Given the description of an element on the screen output the (x, y) to click on. 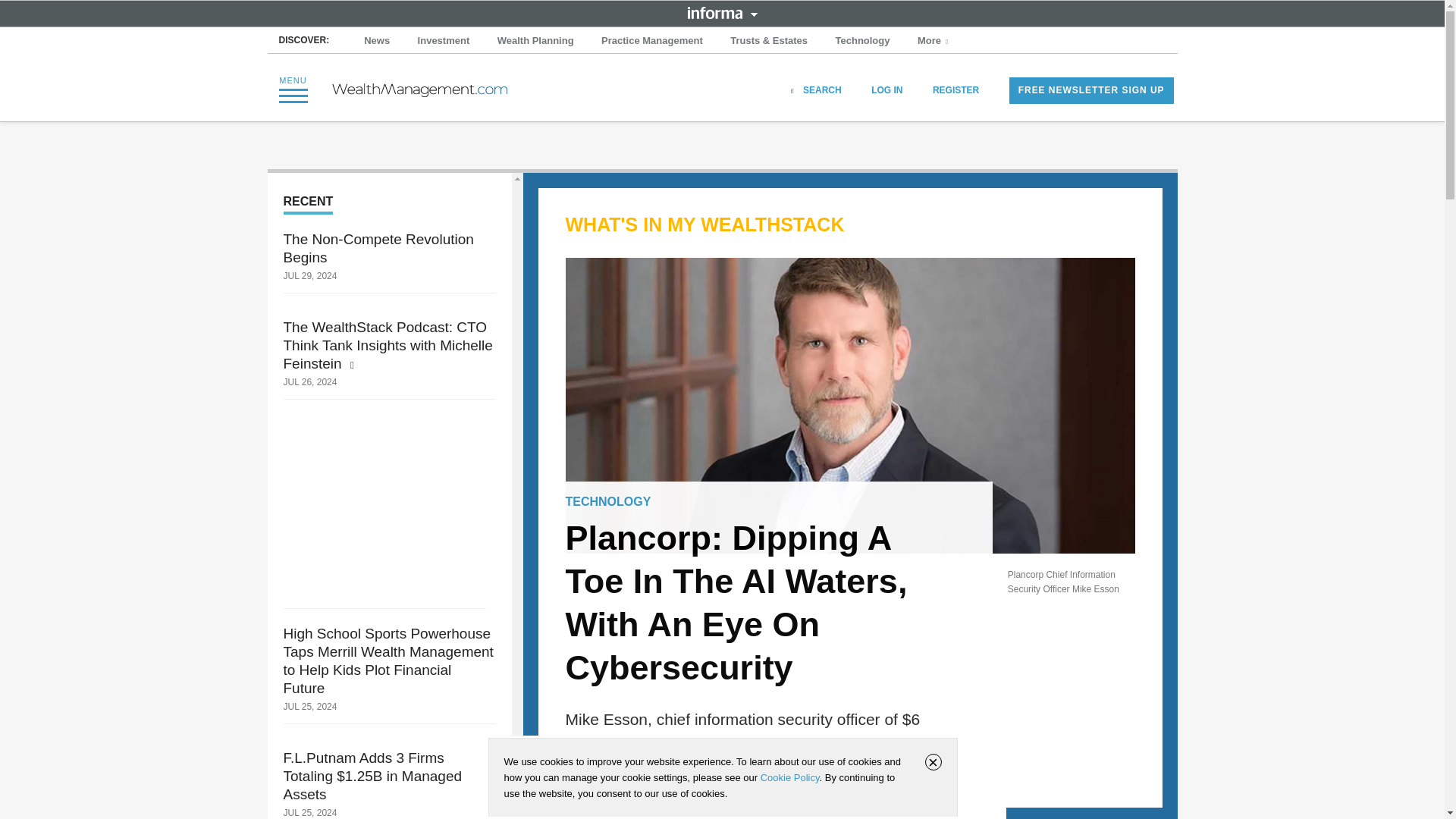
Cookie Policy (789, 777)
Technology (862, 41)
Investment (444, 41)
News (377, 41)
Wealth Planning (535, 41)
Practice Management (652, 41)
More (934, 41)
INFORMA (722, 12)
